Given the description of an element on the screen output the (x, y) to click on. 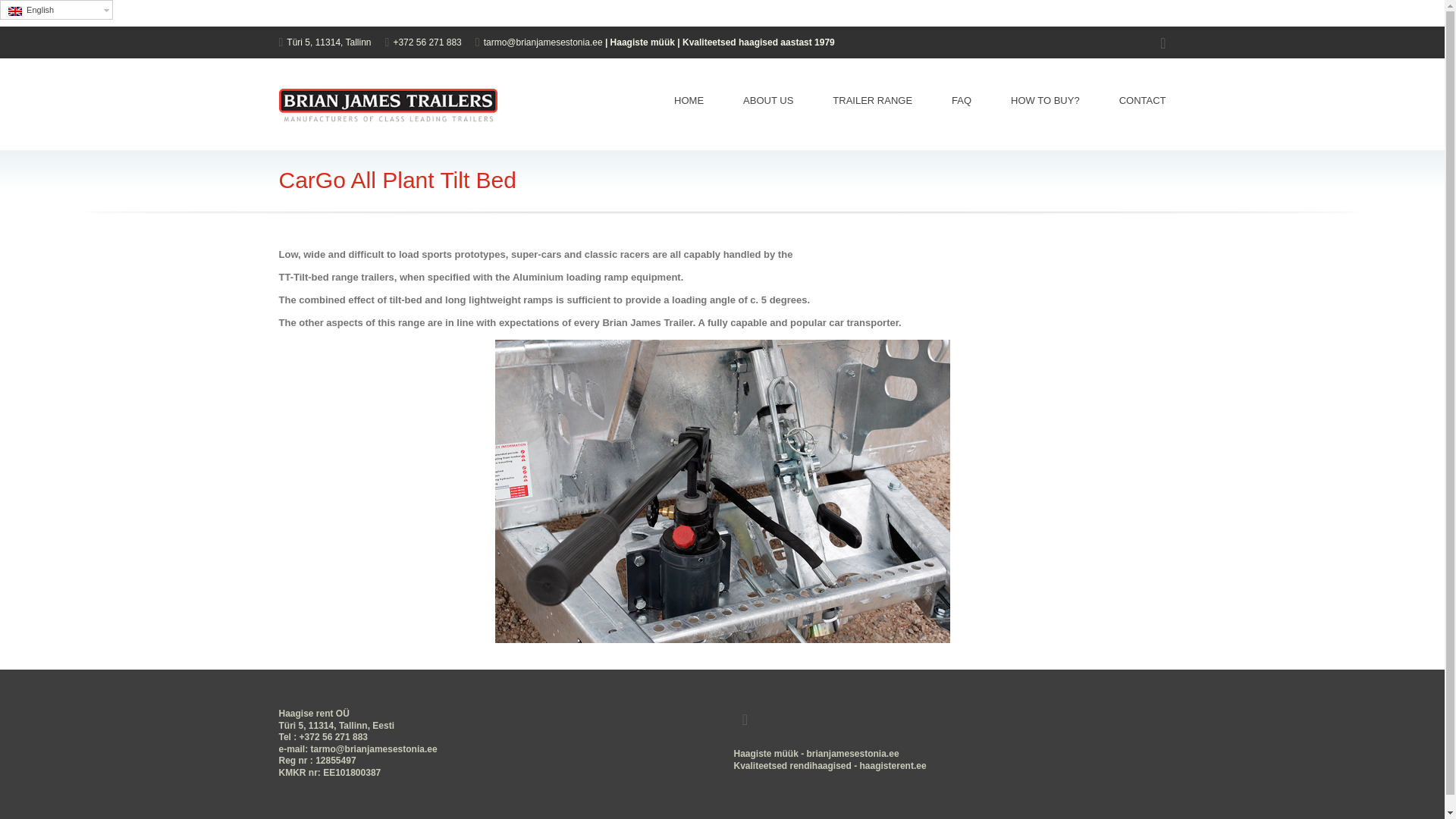
English (14, 10)
HOME (688, 100)
HOW TO BUY? (1045, 100)
ABOUT US (767, 100)
Kvaliteetsed rendihaagised - haagisterent.ee (829, 765)
FAQ (961, 100)
CONTACT (1132, 100)
TRAILER RANGE (871, 100)
 English (56, 9)
